Given the description of an element on the screen output the (x, y) to click on. 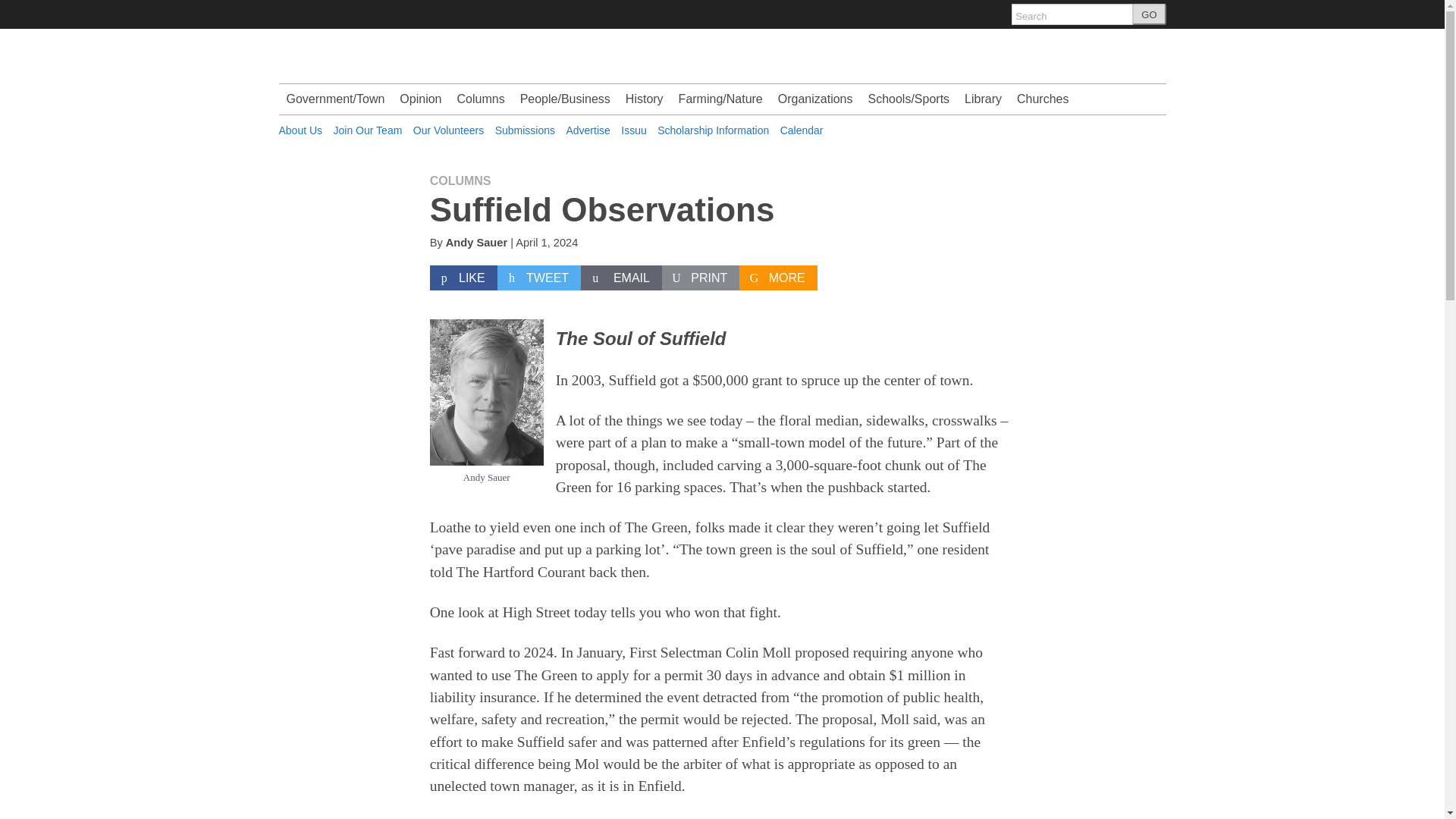
Library (982, 99)
LIKE (463, 278)
About Us (301, 130)
Issuu (633, 130)
Advertise (588, 130)
Read All Posts By Andy Sauer (475, 242)
Read Articles in the Columns category (460, 180)
Columns (480, 99)
COLUMNS (460, 180)
GO (1149, 14)
